Given the description of an element on the screen output the (x, y) to click on. 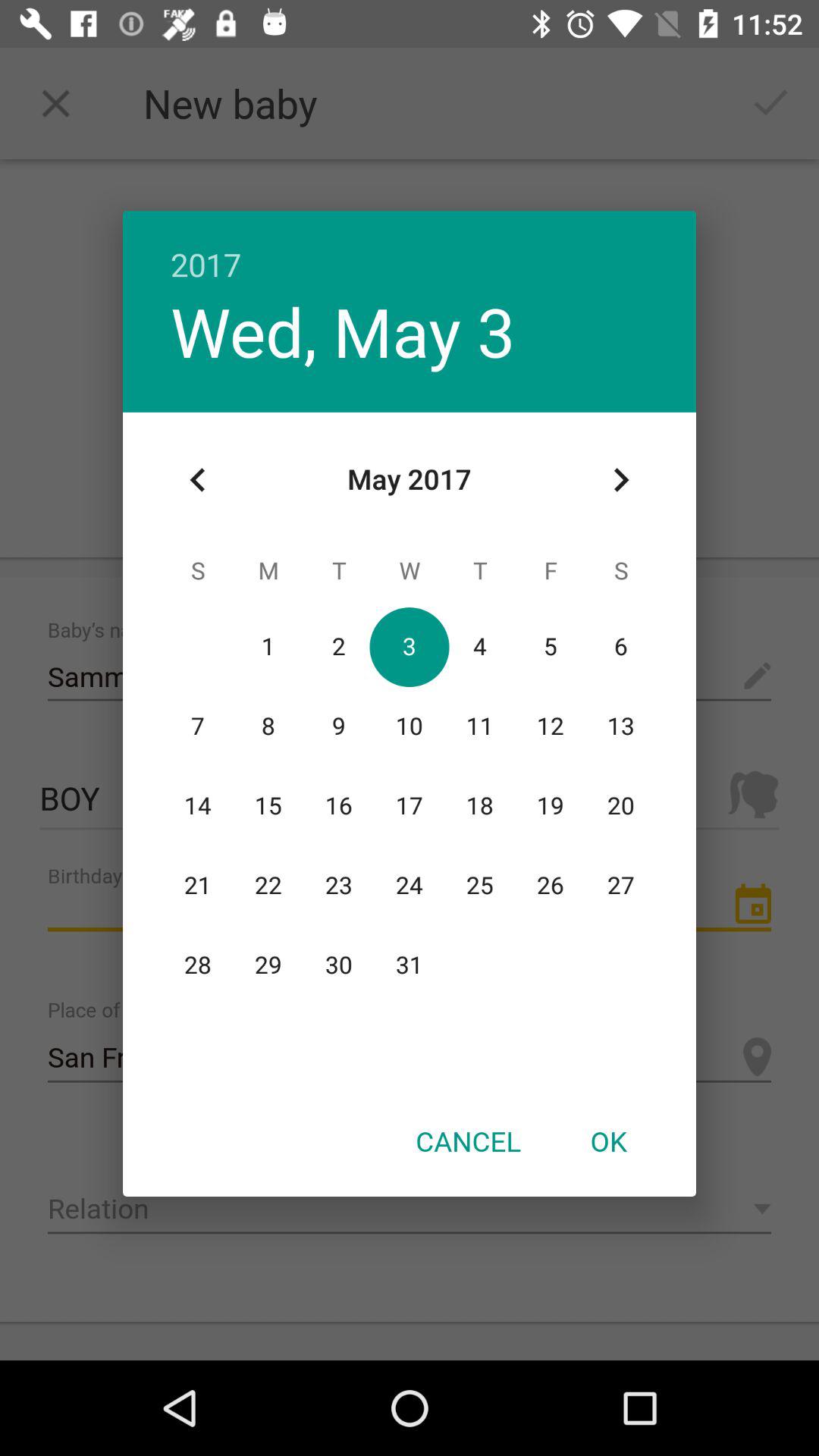
turn off icon at the top left corner (197, 479)
